Given the description of an element on the screen output the (x, y) to click on. 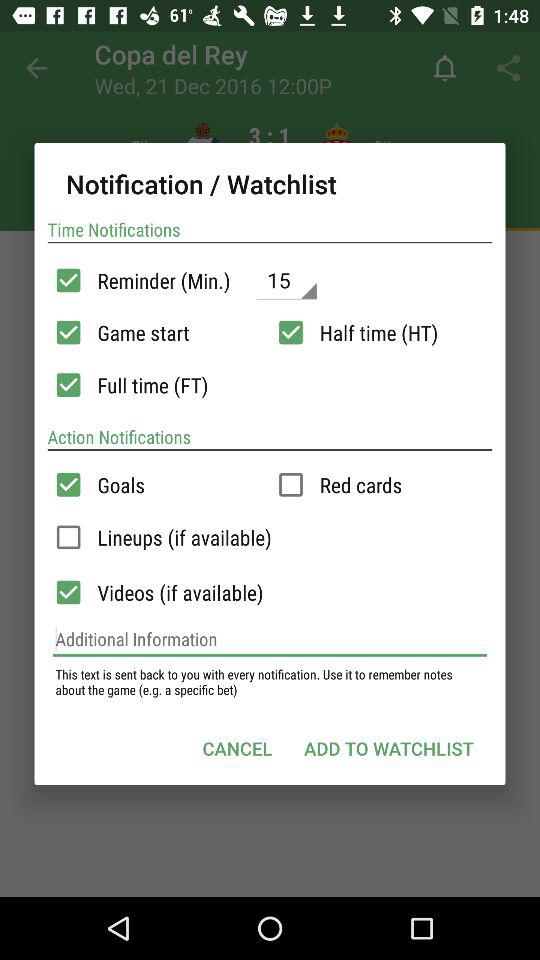
outline page (68, 537)
